Given the description of an element on the screen output the (x, y) to click on. 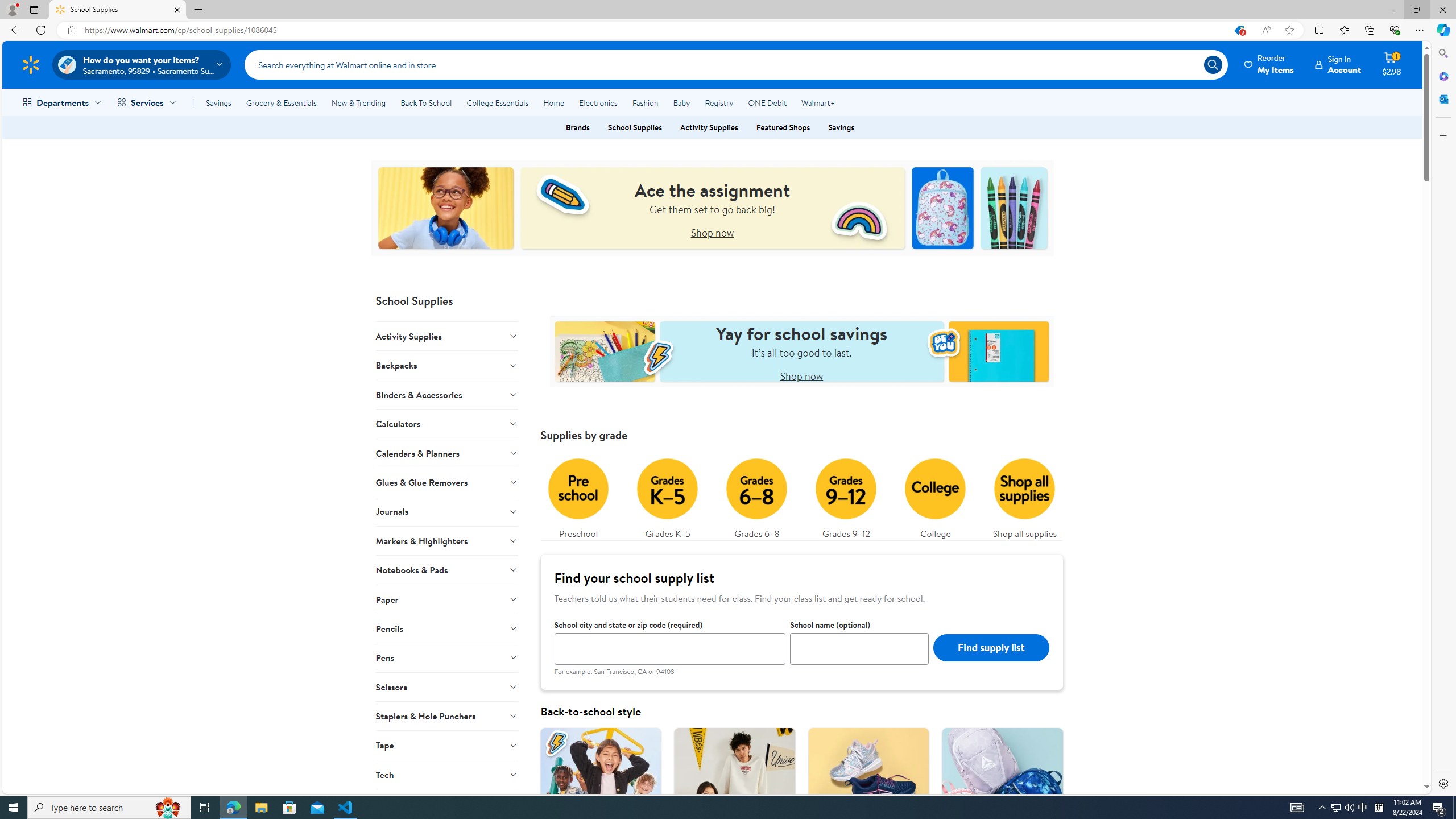
Paper (446, 598)
Walmart+ (817, 102)
Baby (681, 102)
Find supply list (991, 647)
Preschool (577, 495)
Pens (446, 657)
